Given the description of an element on the screen output the (x, y) to click on. 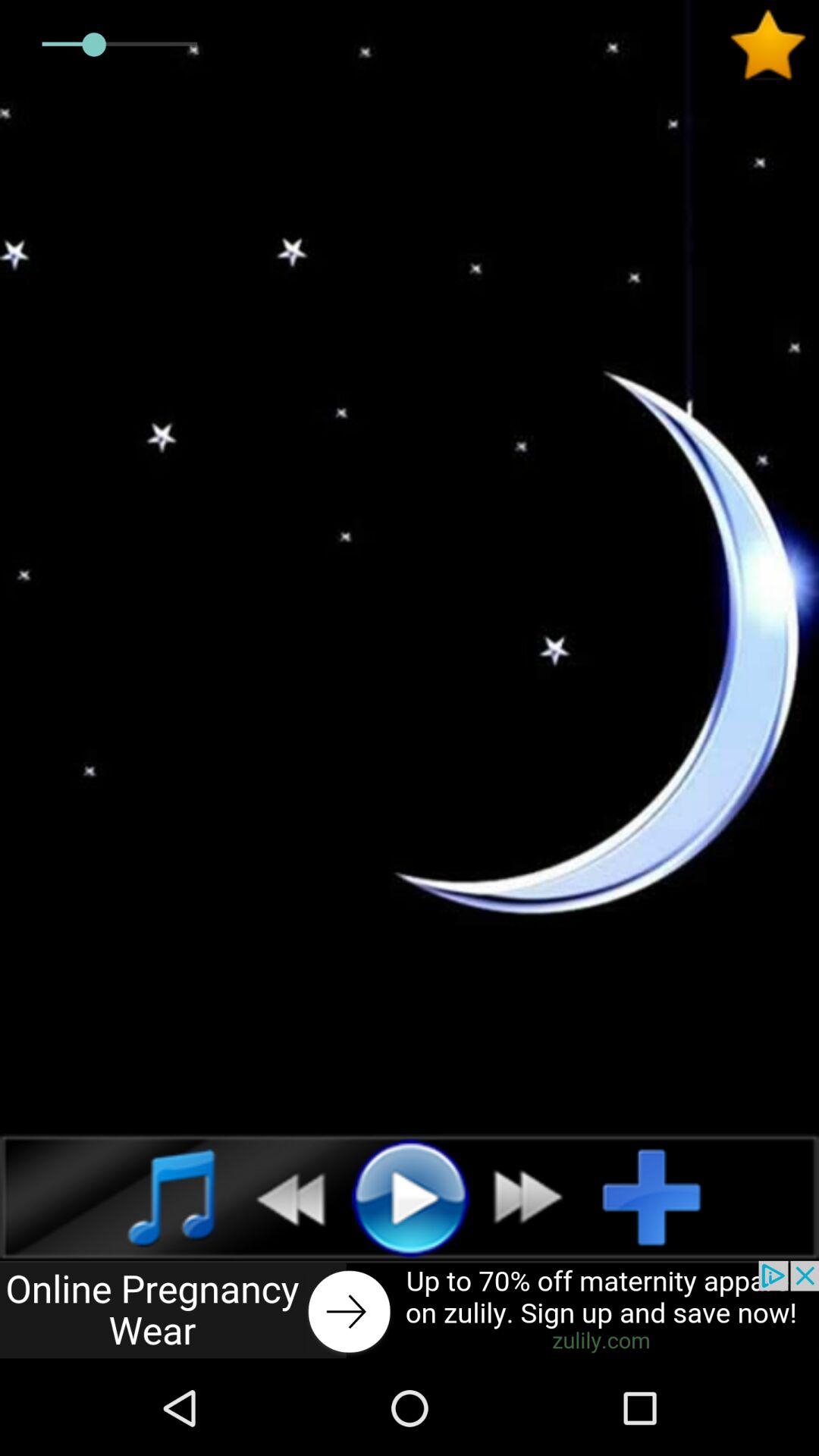
move forward (536, 1196)
